Given the description of an element on the screen output the (x, y) to click on. 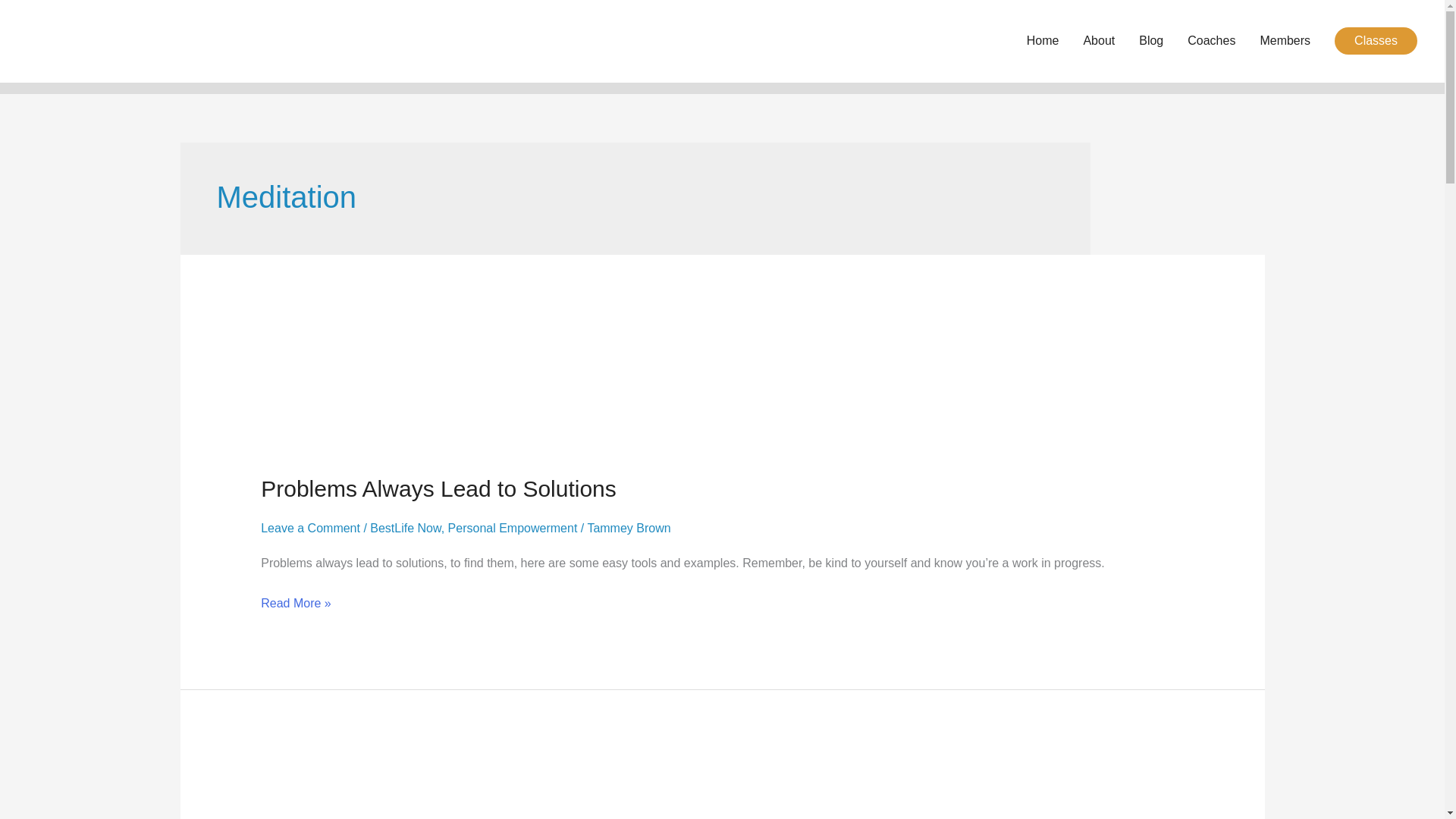
About (1098, 40)
BestLife Now (405, 527)
Members (1284, 40)
Personal Empowerment (513, 527)
Classes (1375, 40)
Leave a Comment (309, 527)
Tammey Brown (627, 527)
Coaches (1210, 40)
Home (1042, 40)
Blog (1150, 40)
